Given the description of an element on the screen output the (x, y) to click on. 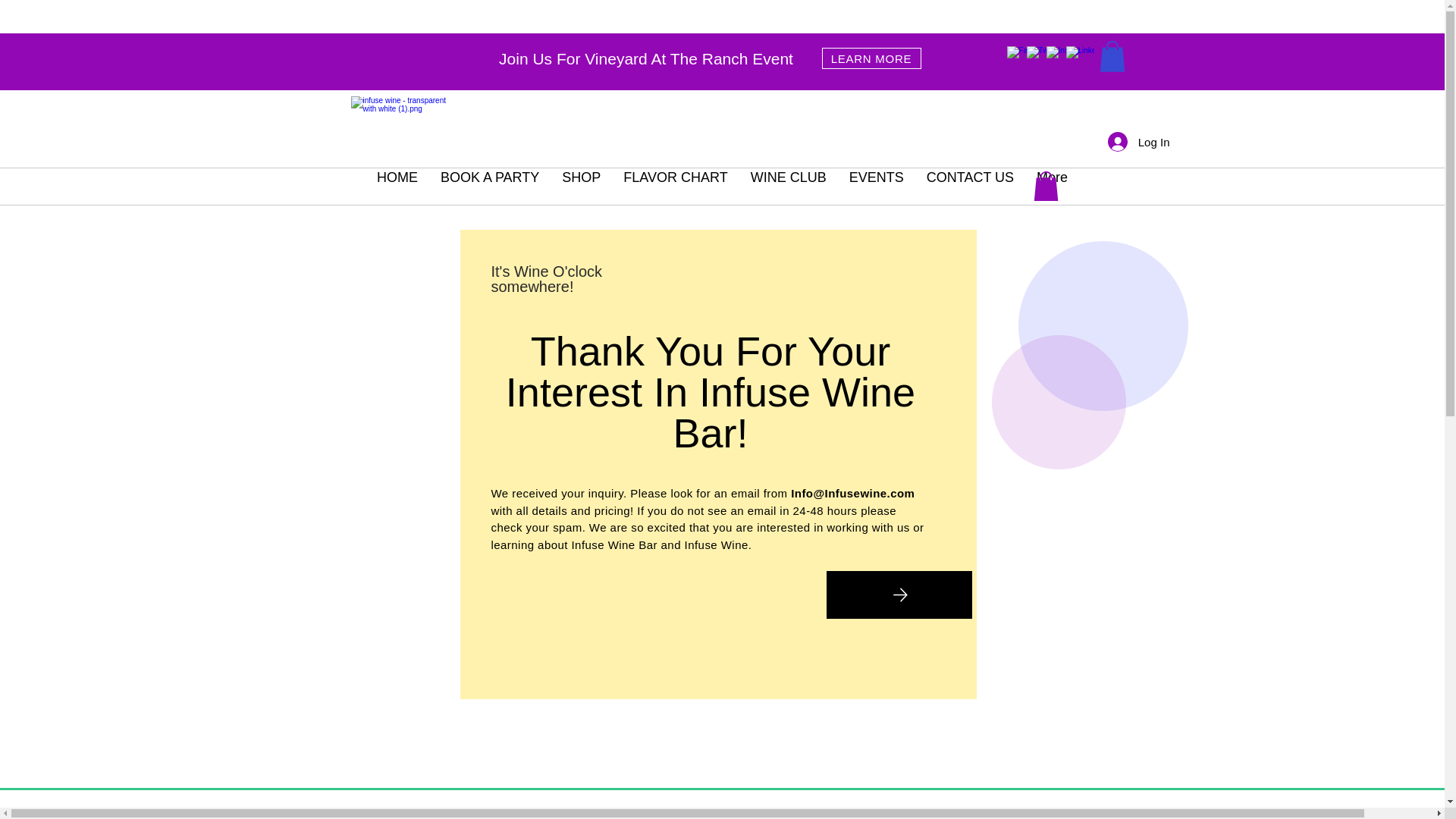
SHOP (580, 186)
HOME (397, 186)
LEARN MORE (871, 57)
EVENTS (876, 186)
CONTACT US (970, 186)
WINE CLUB (788, 186)
Log In (1138, 141)
BOOK A PARTY (489, 186)
FLAVOR CHART (674, 186)
